Given the description of an element on the screen output the (x, y) to click on. 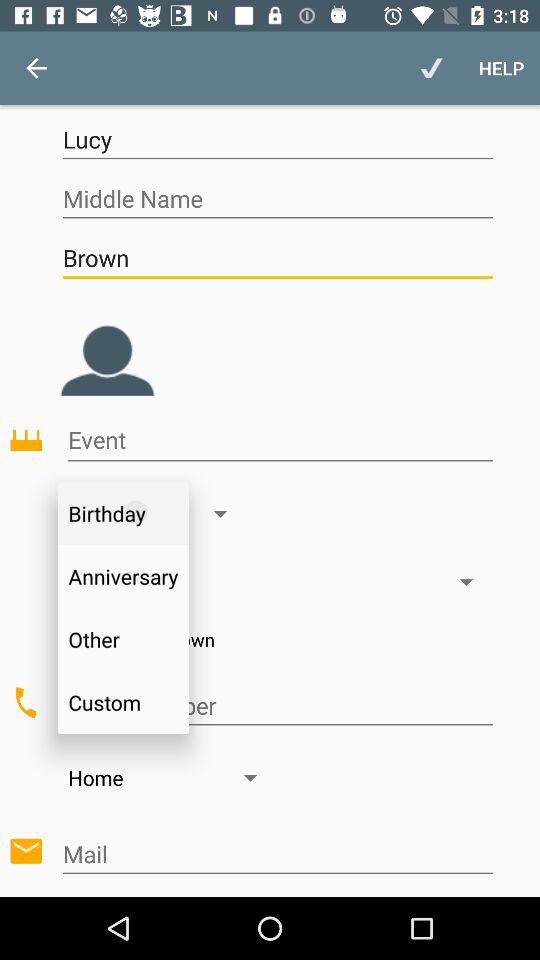
open the icon at the top left corner (36, 68)
